Given the description of an element on the screen output the (x, y) to click on. 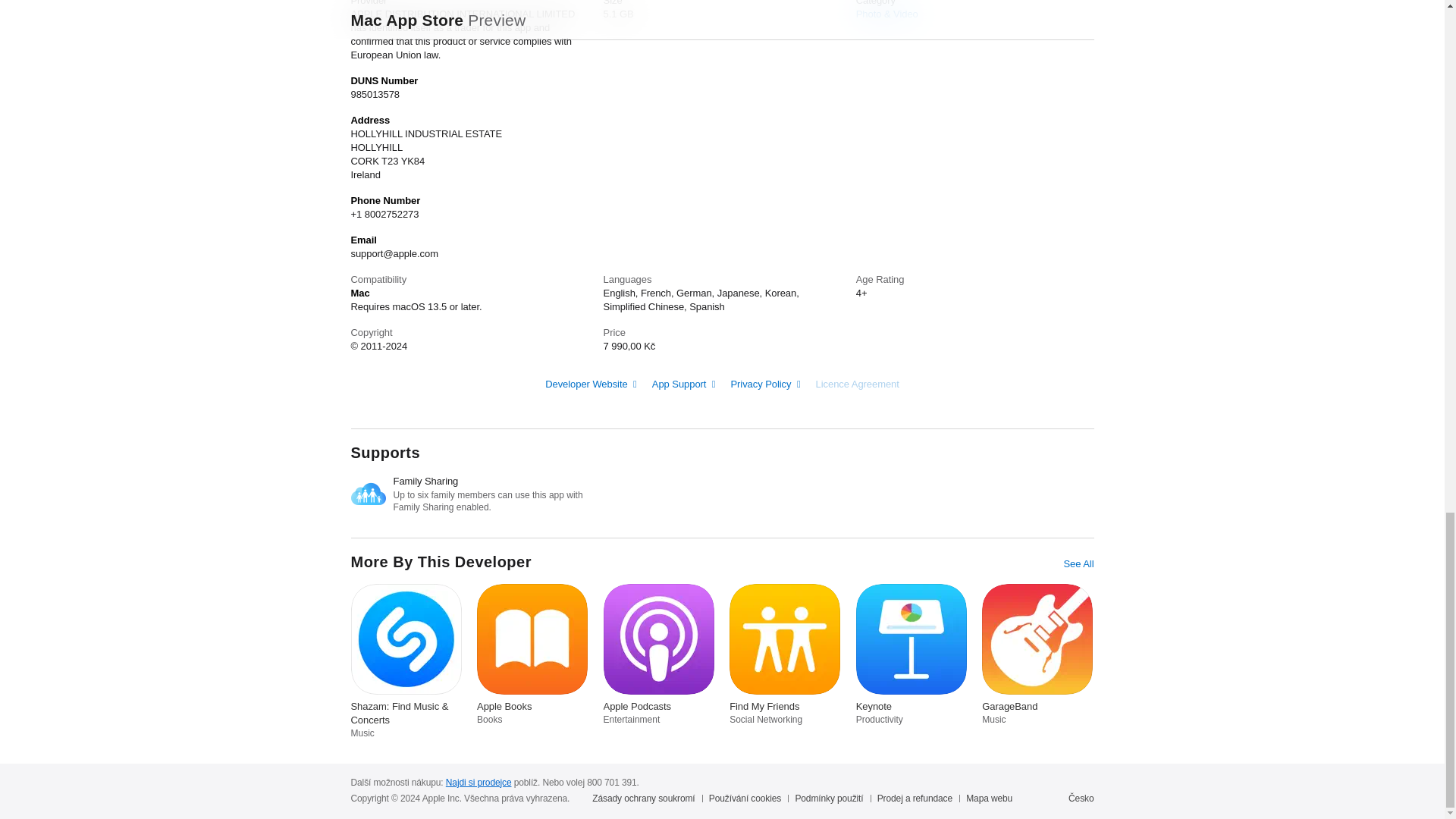
See All (1077, 563)
App Support (684, 383)
Developer Website (590, 383)
Licence Agreement (857, 384)
Vyberte svou zemi nebo oblast (1080, 797)
Privacy Policy (764, 383)
